Given the description of an element on the screen output the (x, y) to click on. 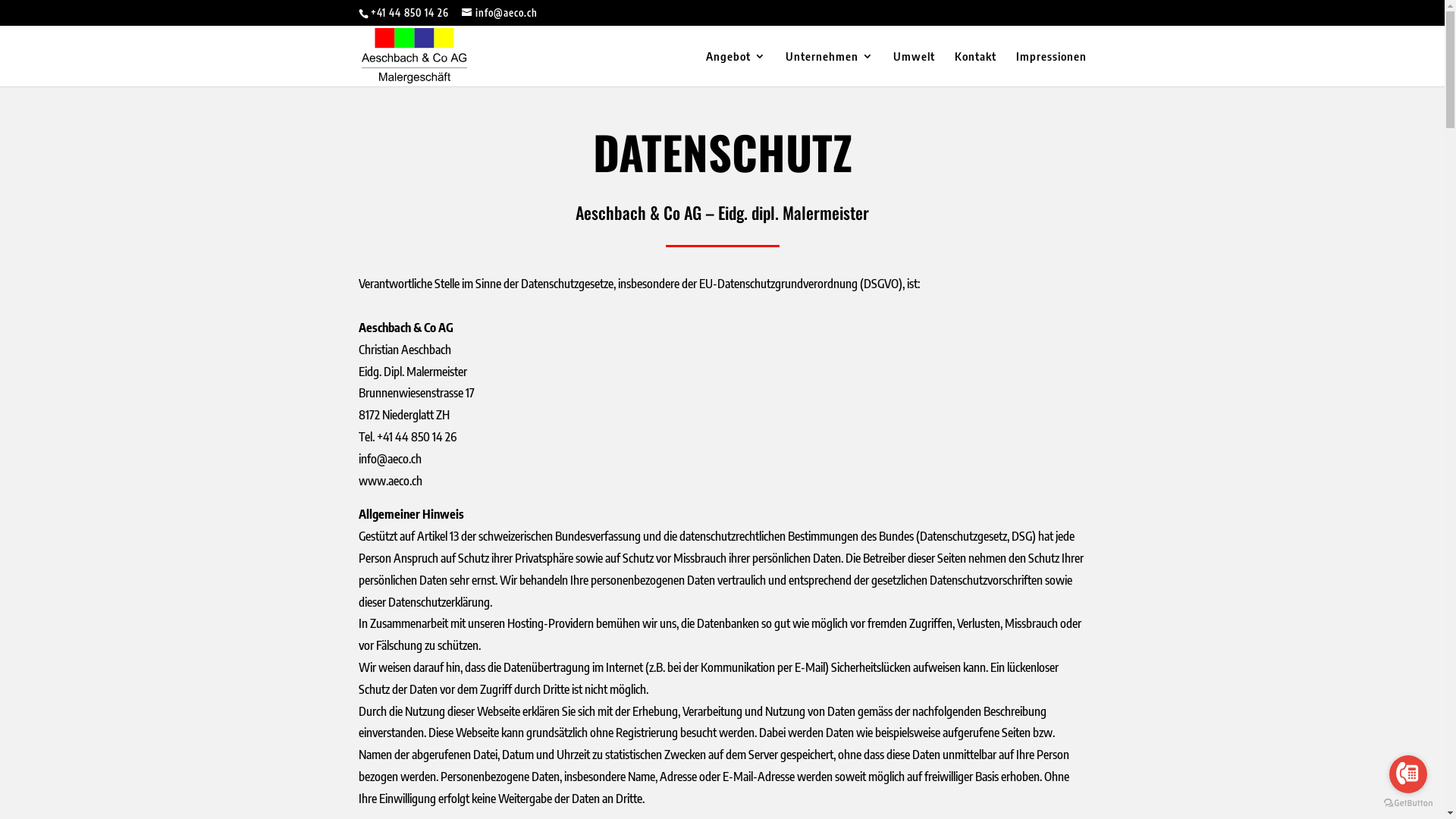
info@aeco.ch Element type: text (388, 458)
Angebot Element type: text (735, 67)
Impressionen Element type: text (1051, 67)
www.aeco.ch Element type: text (389, 480)
Kontakt Element type: text (974, 67)
Unternehmen Element type: text (829, 67)
info@aeco.ch Element type: text (498, 12)
Umwelt Element type: text (914, 67)
